Given the description of an element on the screen output the (x, y) to click on. 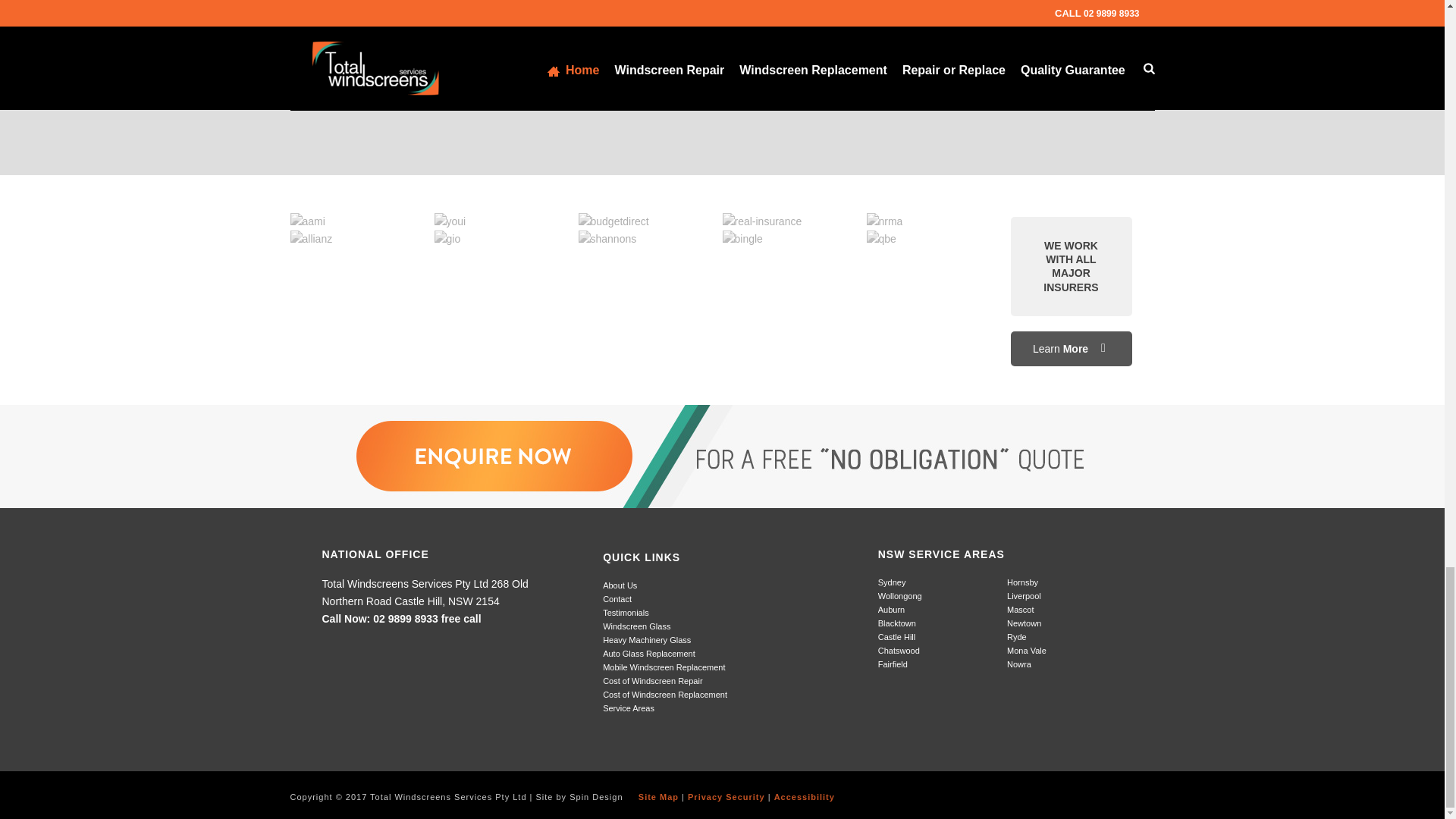
allianz (310, 239)
budgetdirect (612, 221)
gio (446, 239)
aami (306, 221)
Learn More (1070, 348)
youi (449, 221)
shannons (607, 239)
